Given the description of an element on the screen output the (x, y) to click on. 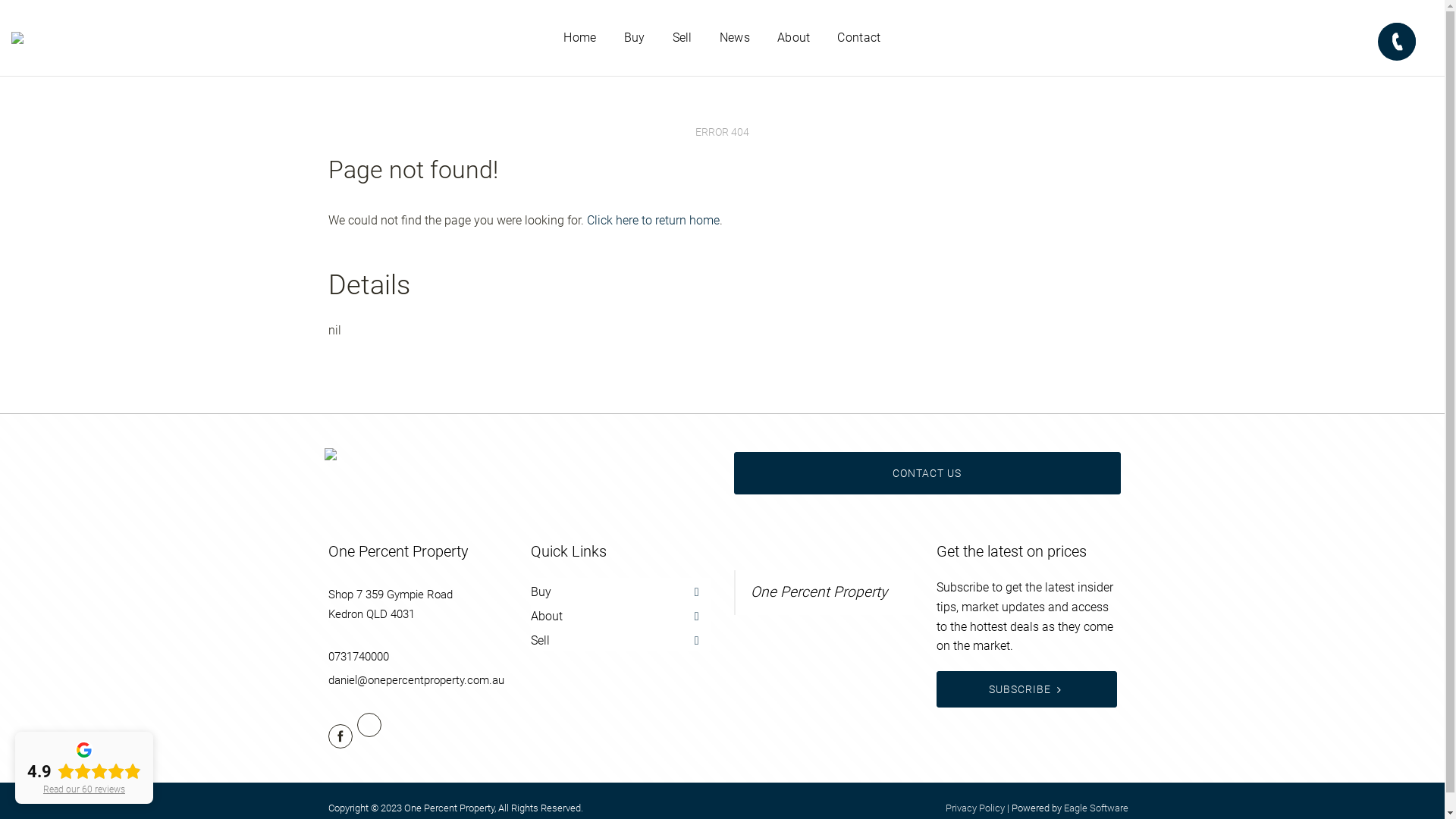
Click here to return home Element type: text (652, 220)
Eagle Software Element type: text (1095, 807)
One Percent Property Element type: text (818, 591)
0731740000 Element type: text (357, 656)
Sell Element type: text (682, 37)
CONTACT US Element type: text (927, 473)
SUBSCRIBE Element type: text (1026, 689)
Home Element type: text (579, 37)
About Element type: text (793, 37)
News Element type: text (734, 37)
Contact Element type: text (858, 37)
Buy Element type: text (634, 37)
Privacy Policy Element type: text (974, 807)
daniel@onepercentproperty.com.au Element type: text (415, 680)
